Given the description of an element on the screen output the (x, y) to click on. 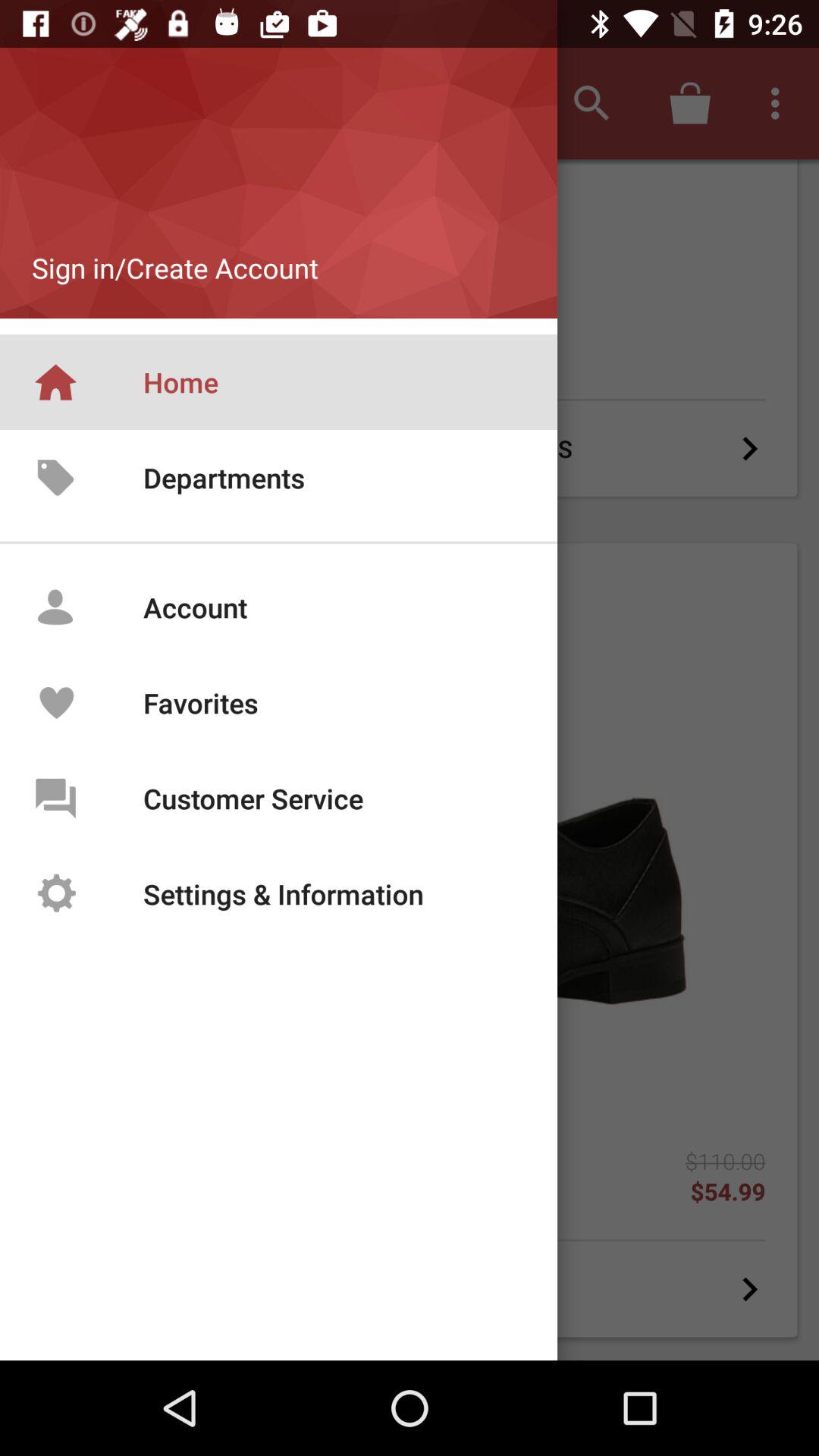
select the option menu from the right corner of the screen (779, 103)
click on account text field (244, 599)
